Given the description of an element on the screen output the (x, y) to click on. 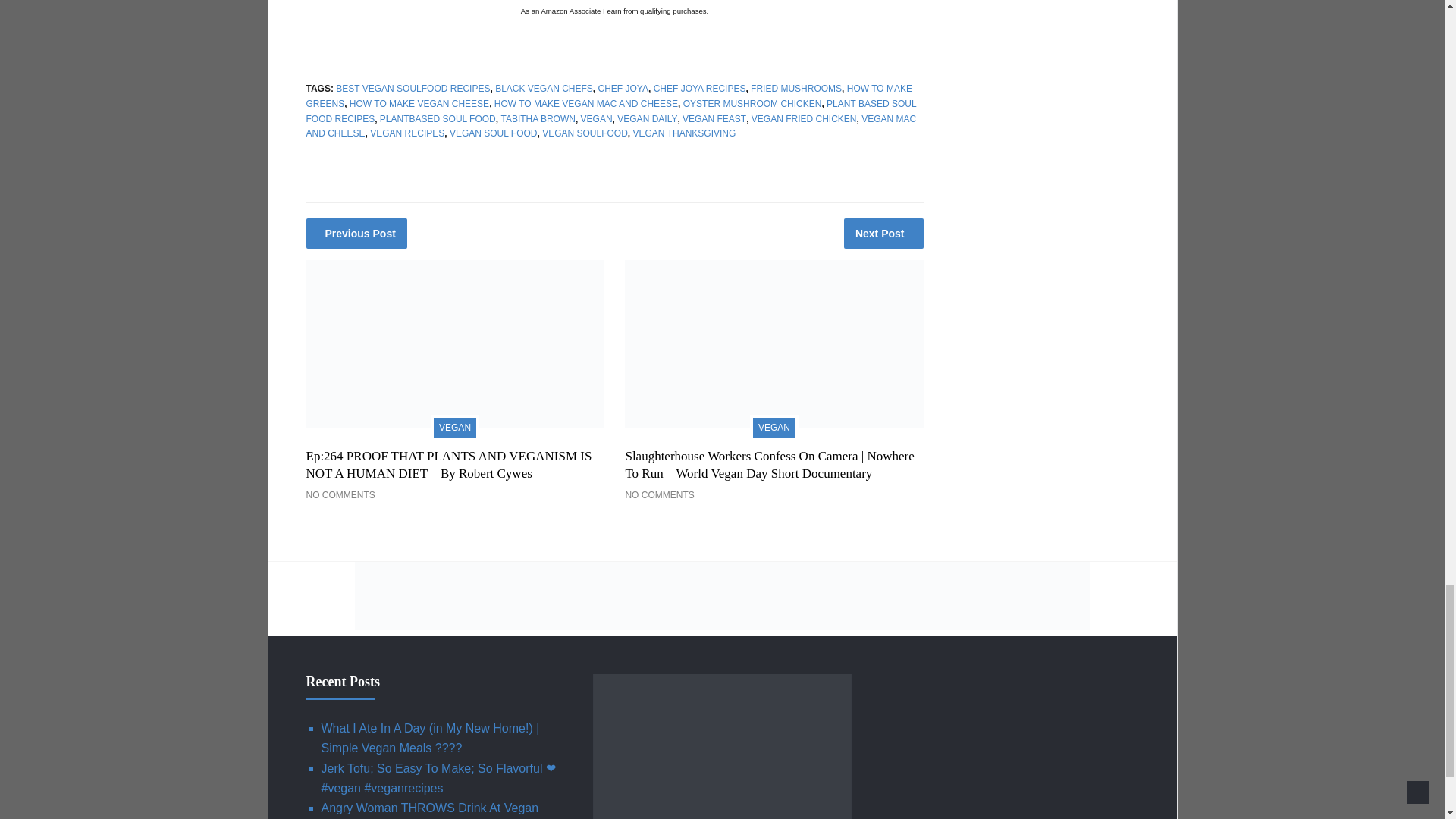
FRIED MUSHROOMS (796, 88)
BLACK VEGAN CHEFS (543, 88)
CHEF JOYA (621, 88)
HOW TO MAKE VEGAN CHEESE (419, 103)
HOW TO MAKE GREENS (608, 95)
BEST VEGAN SOULFOOD RECIPES (412, 88)
CHEF JOYA RECIPES (699, 88)
